Given the description of an element on the screen output the (x, y) to click on. 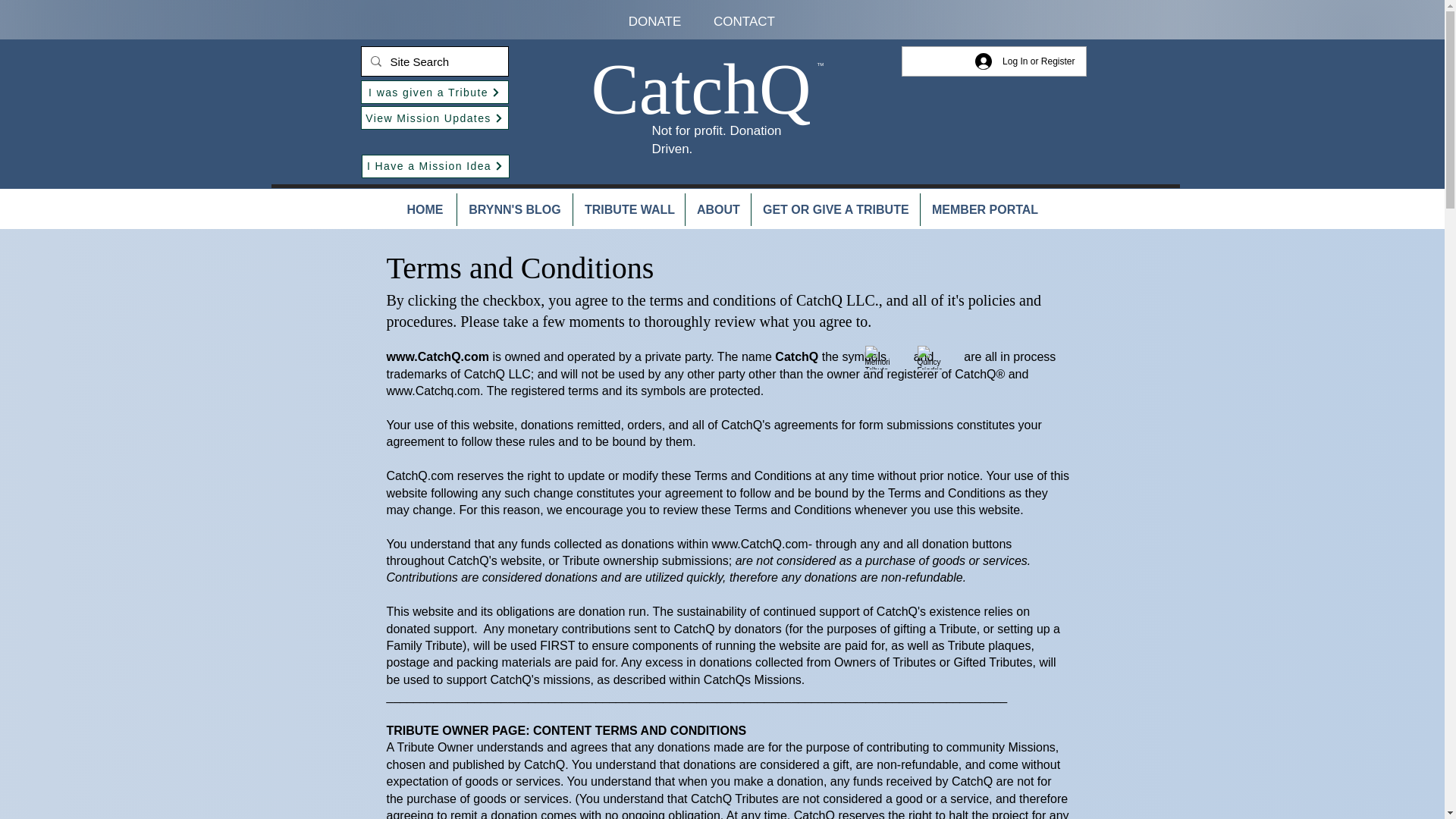
BRYNN'S BLOG (514, 209)
GET OR GIVE A TRIBUTE (835, 209)
I Have a Mission Idea (434, 166)
CatchQ (700, 89)
CONTACT (743, 21)
www.CatchQ.com- (761, 543)
www.Catchq.com (433, 390)
HOME (425, 209)
MEMBER PORTAL (984, 209)
TRIBUTE WALL (628, 209)
DONATE (654, 21)
www.CatchQ.com (438, 356)
View Mission Updates (434, 117)
ABOUT (718, 209)
I was given a Tribute (434, 92)
